Given the description of an element on the screen output the (x, y) to click on. 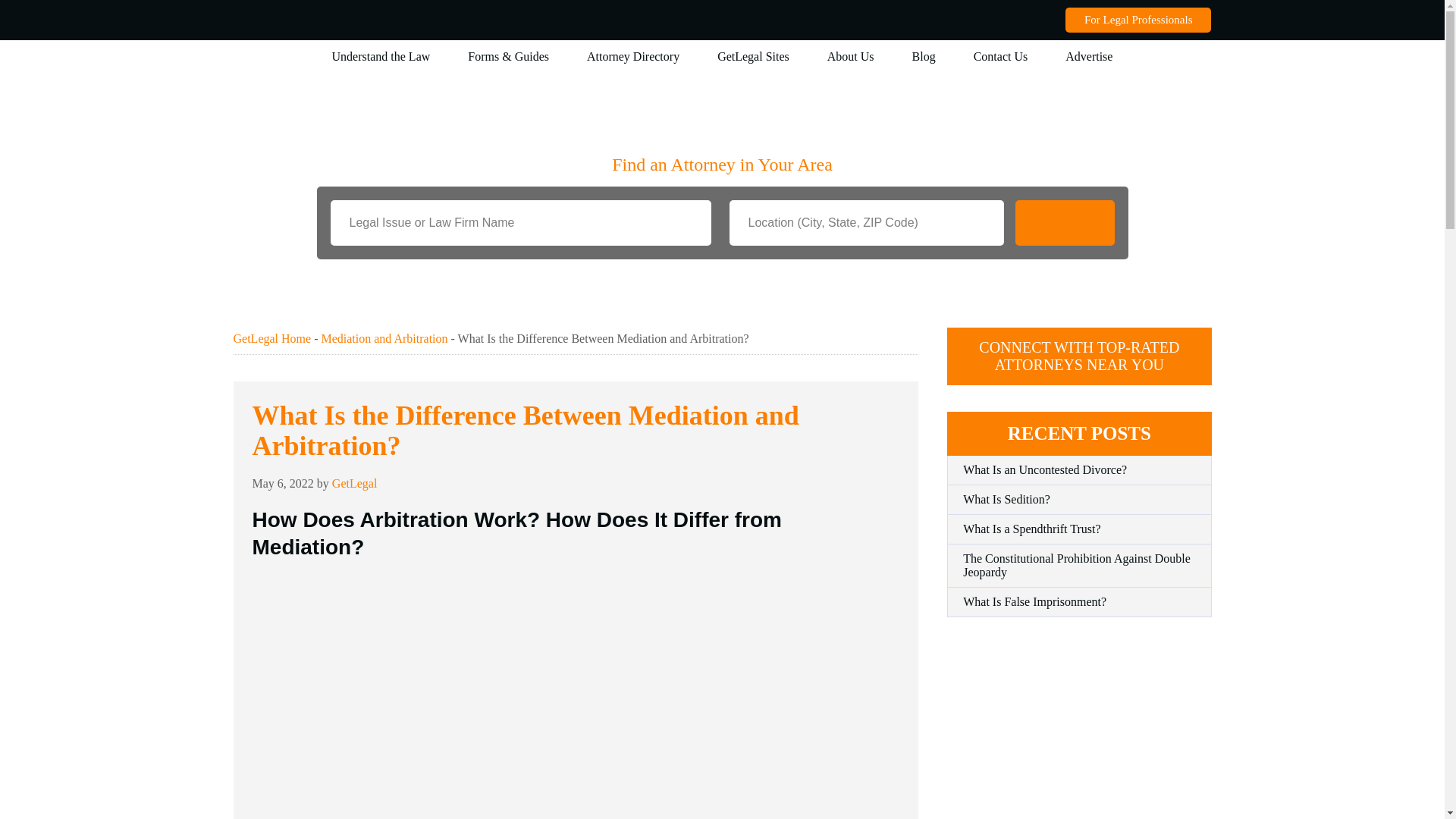
GetLegal Sites (753, 56)
Attorney Directory (632, 56)
Understand the Law (380, 56)
Search (1063, 222)
GetLegal Home (271, 338)
Attorney Directory (632, 56)
Contact Us (1000, 56)
Understand the Law (380, 56)
Mediation and Arbitration (383, 338)
GetLegal (354, 482)
